Given the description of an element on the screen output the (x, y) to click on. 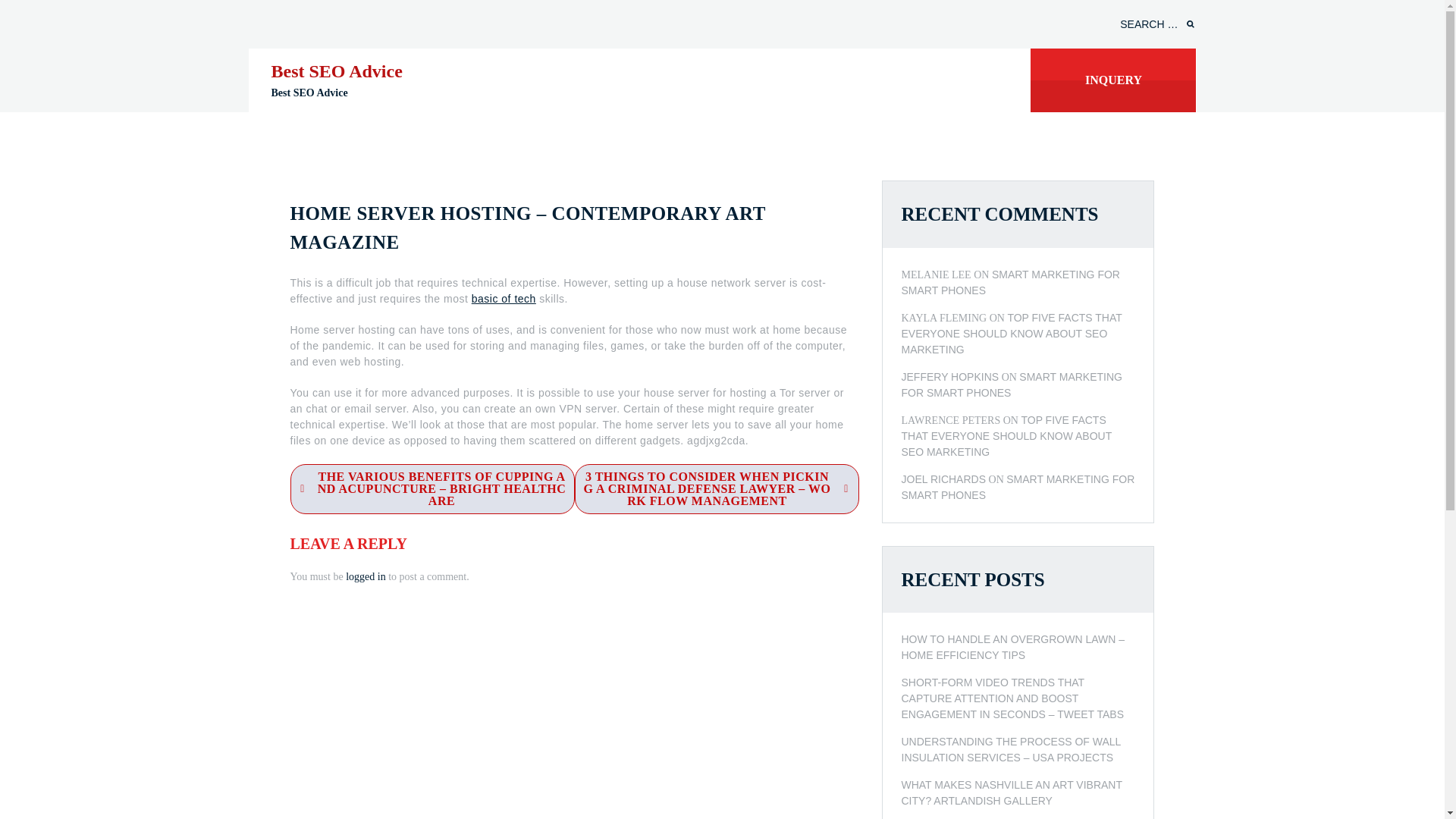
SMART MARKETING FOR SMART PHONES (1017, 487)
SMART MARKETING FOR SMART PHONES (1010, 282)
basic of tech (503, 298)
logged in (365, 576)
TOP FIVE FACTS THAT EVERYONE SHOULD KNOW ABOUT SEO MARKETING (1005, 435)
JEFFERY HOPKINS (949, 376)
TOP FIVE FACTS THAT EVERYONE SHOULD KNOW ABOUT SEO MARKETING (1011, 332)
INQUERY (1112, 80)
SMART MARKETING FOR SMART PHONES (1011, 384)
WHAT MAKES NASHVILLE AN ART VIBRANT CITY? ARTLANDISH GALLERY (1017, 793)
